Given the description of an element on the screen output the (x, y) to click on. 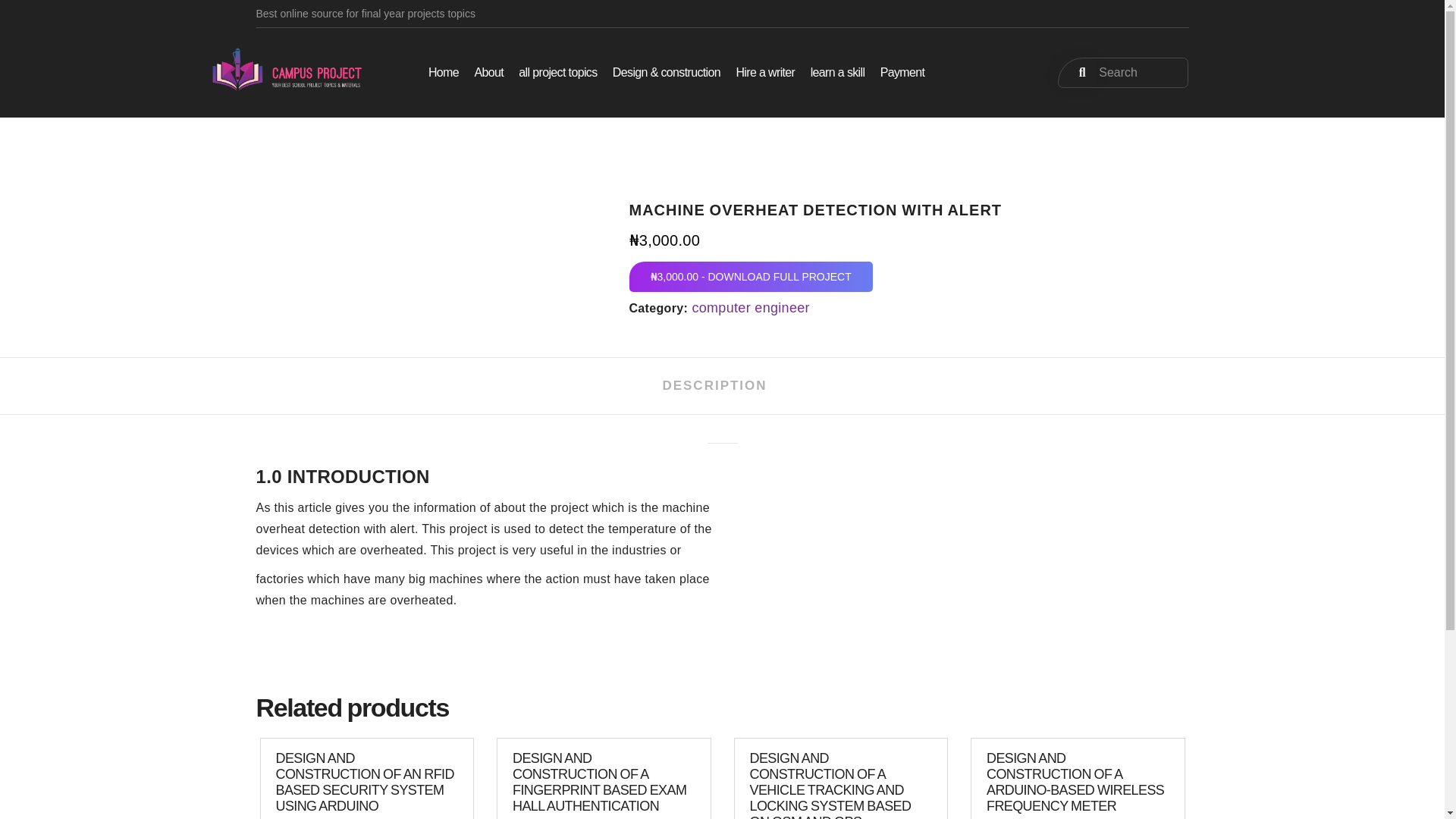
computer engineer (750, 307)
Home (443, 72)
About (488, 72)
Hire a writer (764, 72)
all project topics (557, 72)
Go (1077, 72)
Search (1123, 72)
learn a skill (837, 72)
